Given the description of an element on the screen output the (x, y) to click on. 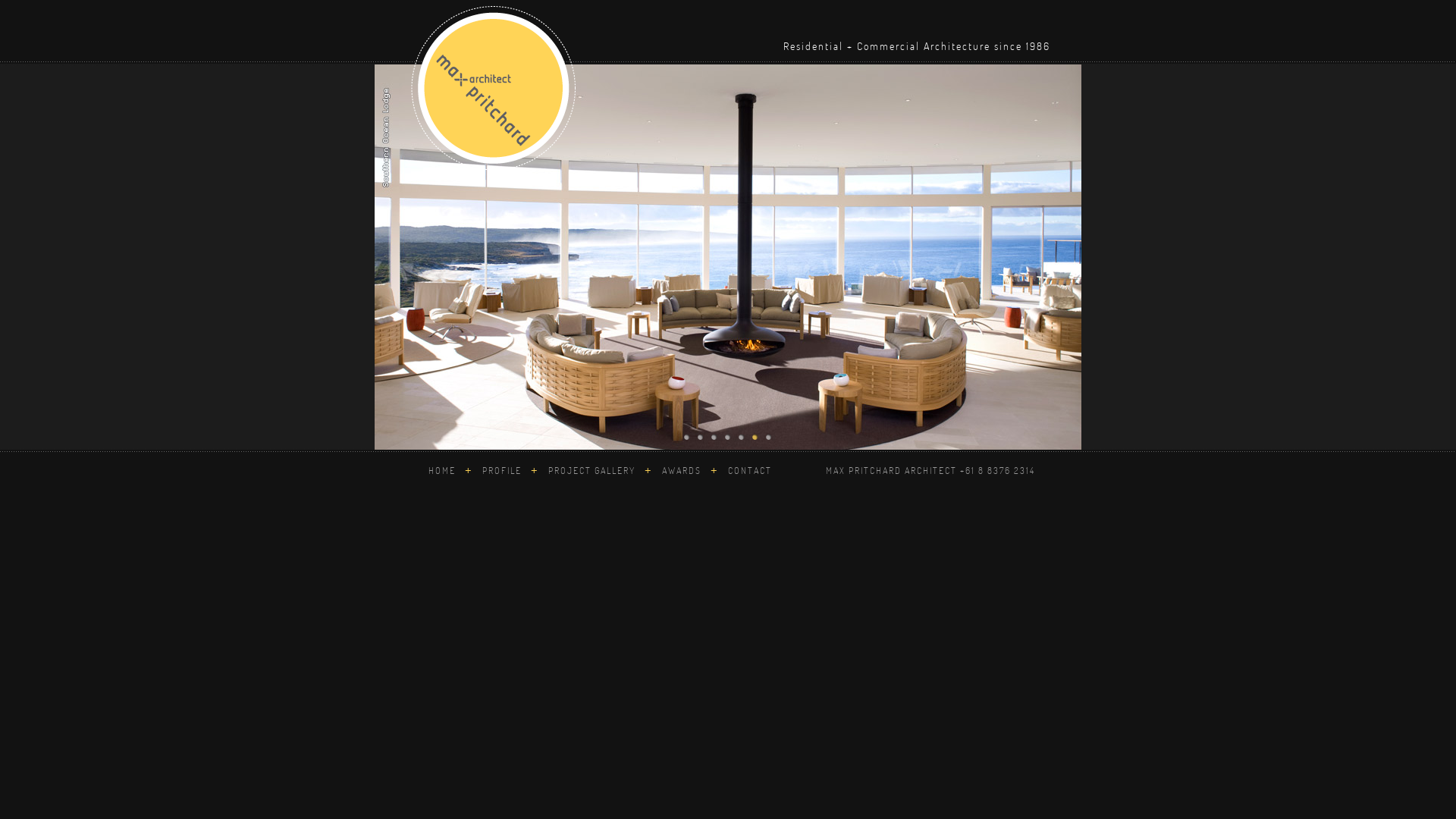
  AWARDS    Element type: text (681, 470)
  PROJECT GALLERY   Element type: text (590, 470)
  PROFILE    Element type: text (503, 470)
HOME   Element type: text (444, 470)
  CONTACT Element type: text (746, 470)
